Given the description of an element on the screen output the (x, y) to click on. 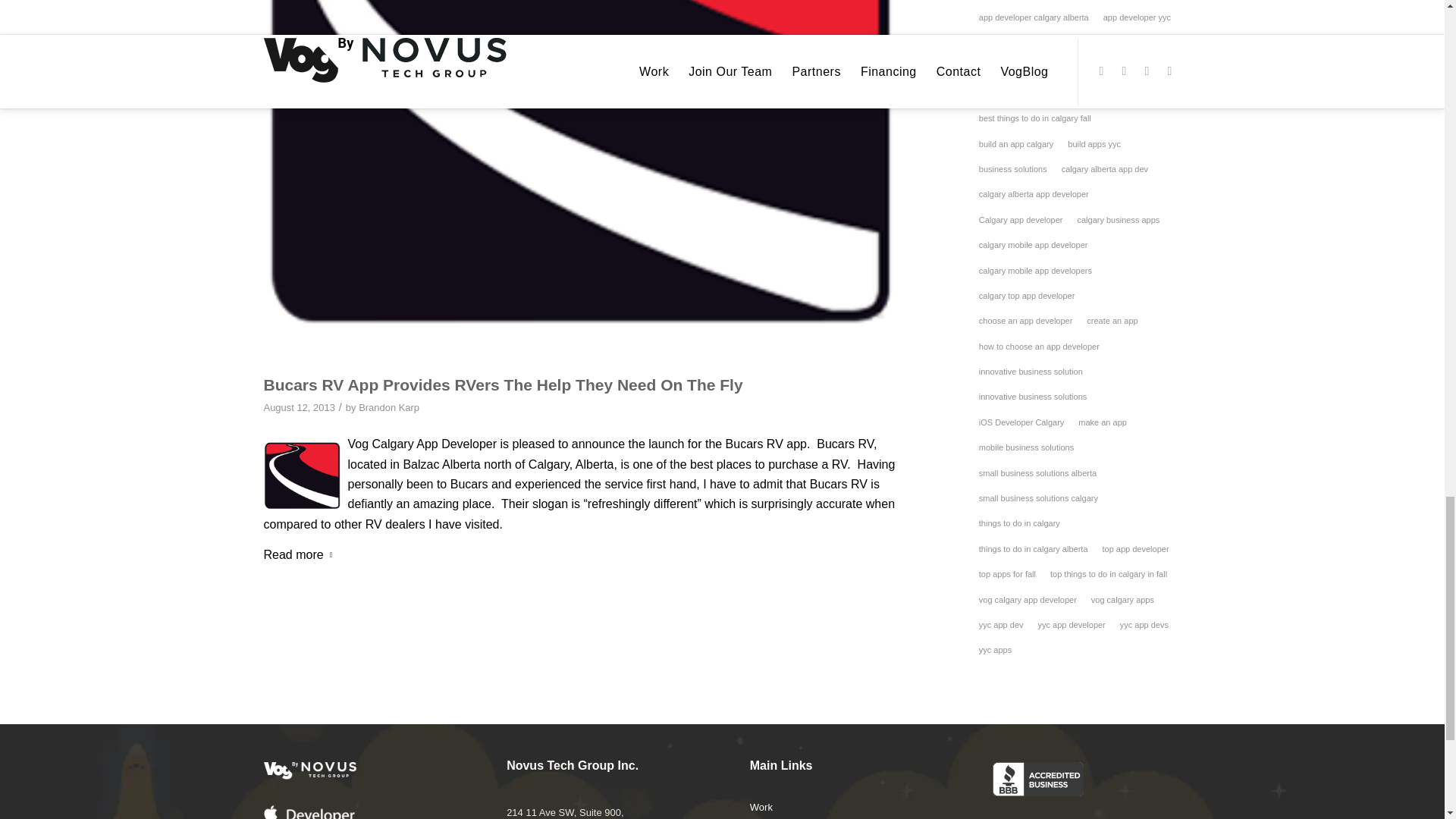
Brandon Karp (388, 407)
app developer calgary (1019, 2)
Read more (301, 555)
app developer calgary alberta (1034, 16)
Posts by Brandon Karp (388, 407)
Bucars RV App Provides RVers The Help They Need On The Fly (502, 384)
